Given the description of an element on the screen output the (x, y) to click on. 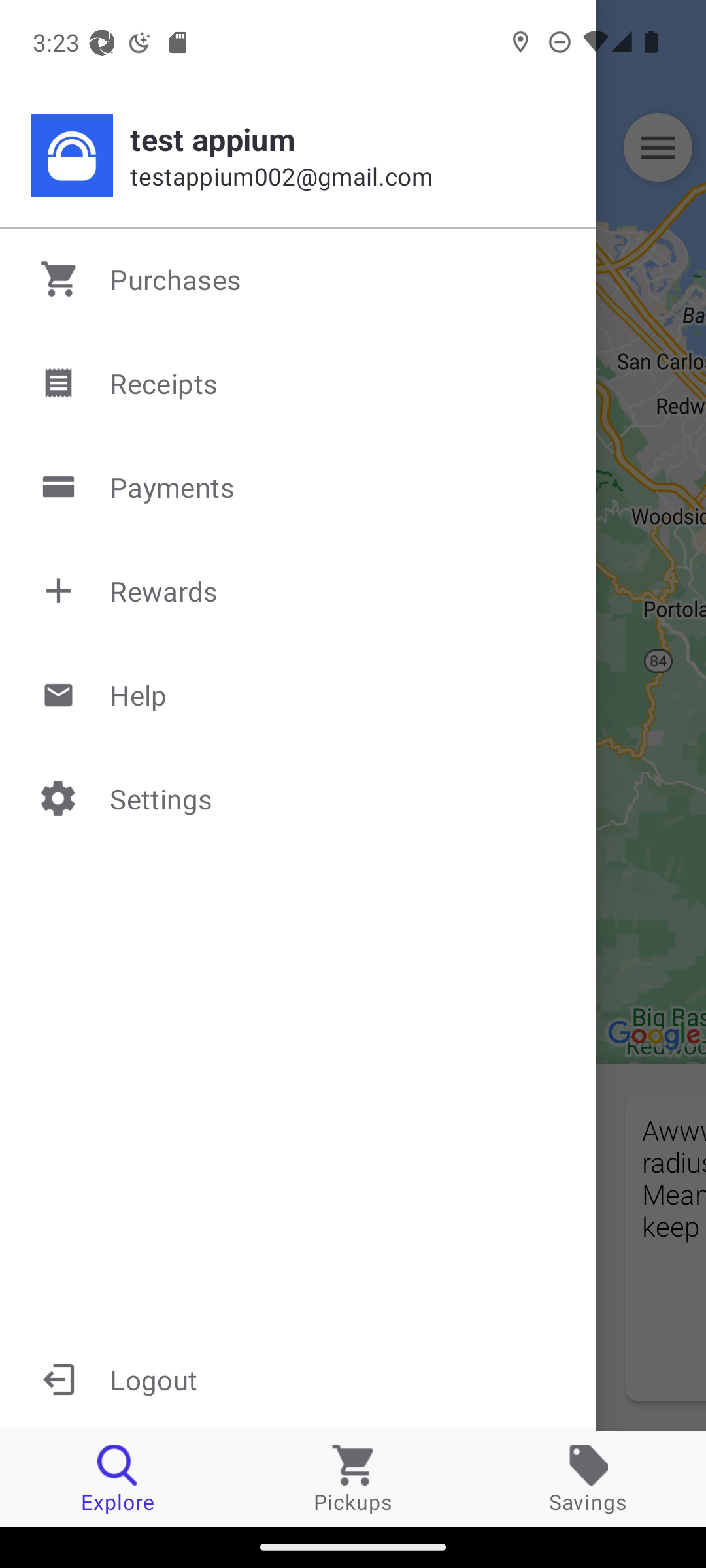
Purchases (299, 278)
Receipts (299, 382)
Payments (299, 487)
Rewards (299, 590)
Help (299, 694)
Settings (299, 797)
Logout (297, 1379)
Pickups (352, 1478)
Savings (588, 1478)
